Given the description of an element on the screen output the (x, y) to click on. 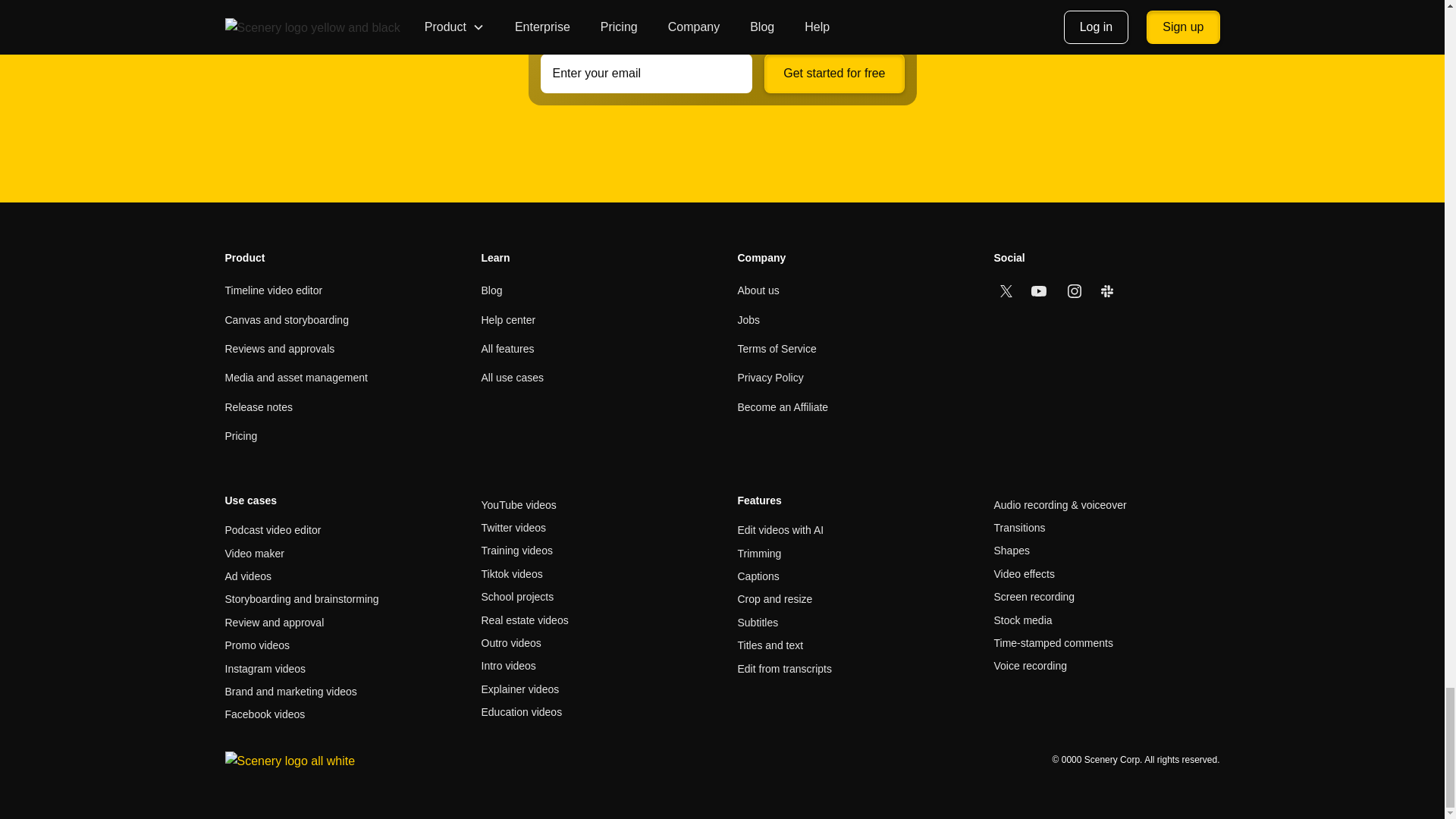
Get started for free (834, 73)
Privacy Policy (769, 377)
Pricing (240, 435)
Become an Affiliate (782, 407)
Help center (507, 319)
Release notes (258, 407)
Terms of Service (775, 348)
Timeline video editor (272, 290)
Get started for free (834, 73)
Media and asset management (295, 377)
Canvas and storyboarding (285, 319)
Reviews and approvals (279, 348)
All use cases (511, 377)
All features (507, 348)
About us (757, 290)
